Given the description of an element on the screen output the (x, y) to click on. 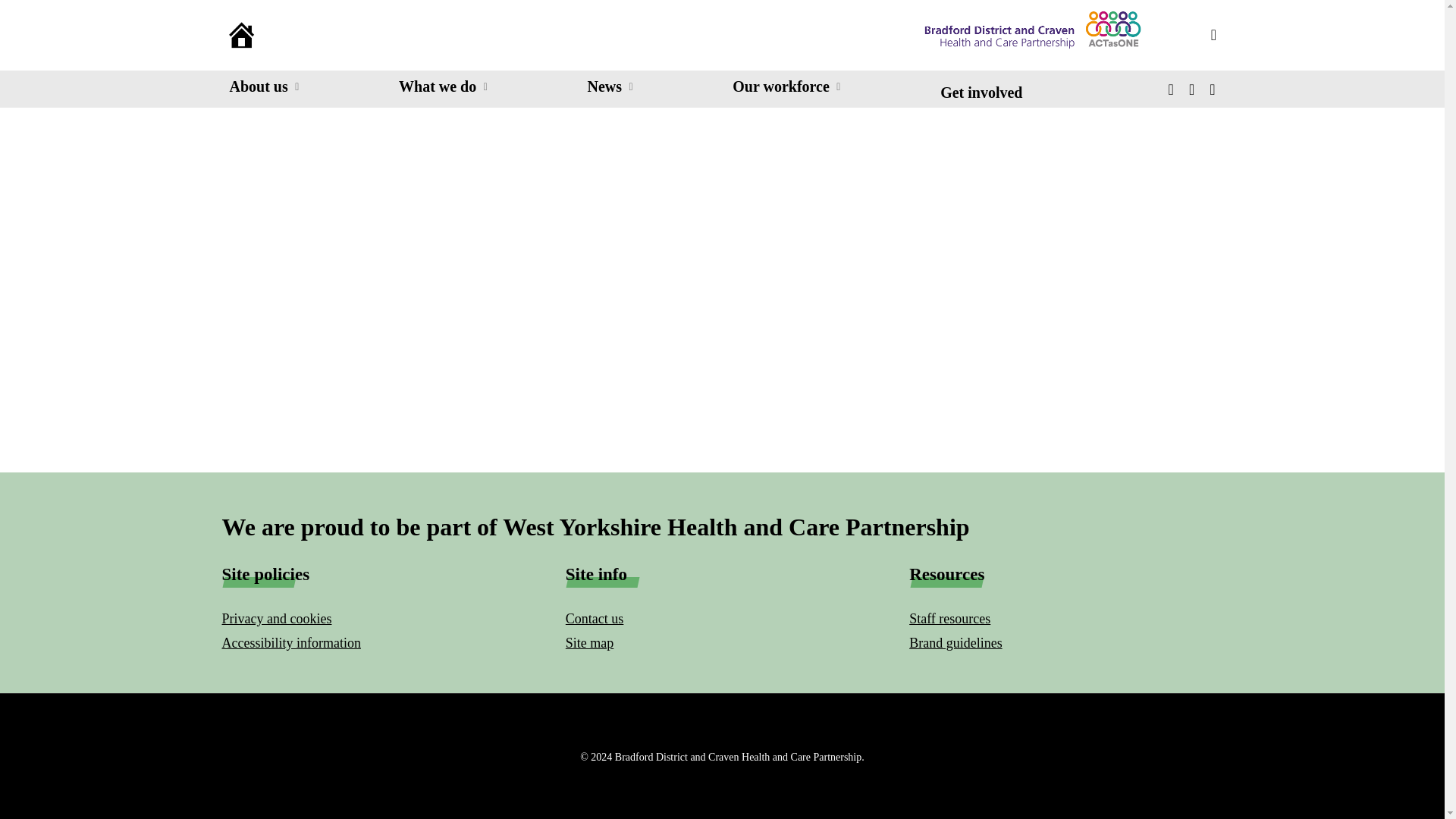
twitter (1171, 88)
instagram (1211, 88)
About us (263, 86)
News (609, 86)
facebook (1191, 88)
What we do (442, 86)
